Given the description of an element on the screen output the (x, y) to click on. 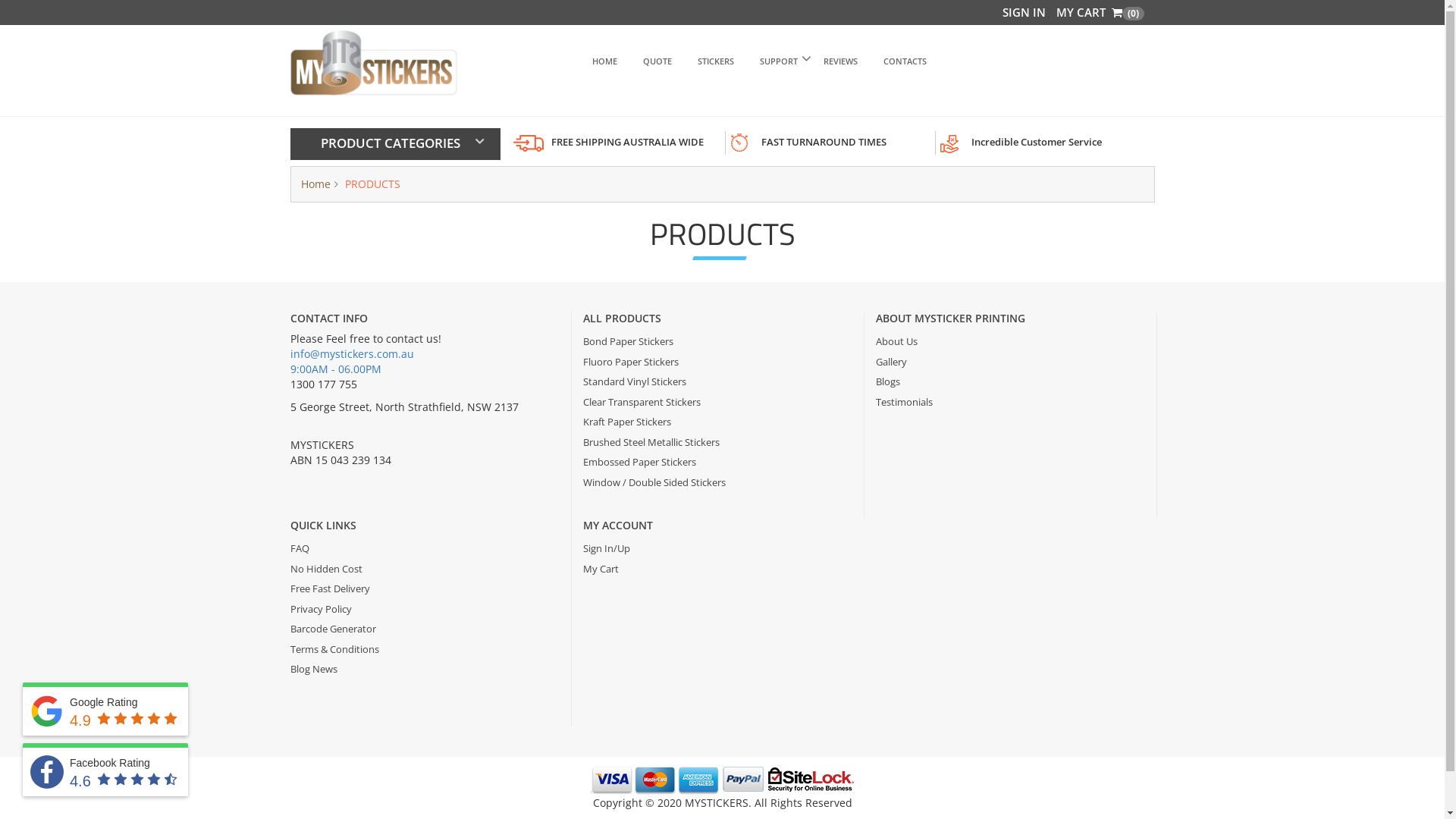
Clear Transparent Stickers Element type: text (717, 402)
My Cart   Element type: text (718, 568)
Testimonials Element type: text (1010, 402)
Home Element type: text (314, 183)
Free Fast Delivery Element type: text (423, 588)
info@mystickers.com.au
9:00AM - 06.00PM Element type: text (351, 361)
Blogs Element type: text (1010, 381)
SUPPORT Element type: text (778, 61)
Privacy Policy Element type: text (423, 609)
Blog News Element type: text (423, 668)
Sign In/Up Element type: text (718, 548)
Terms & Conditions Element type: text (423, 649)
Embossed Paper Stickers Element type: text (717, 461)
QUOTE Element type: text (657, 61)
STICKERS Element type: text (715, 61)
Kraft Paper Stickers Element type: text (717, 421)
Fluoro Paper Stickers Element type: text (717, 361)
REVIEWS Element type: text (840, 61)
CONTACTS Element type: text (904, 61)
Window / Double Sided Stickers Element type: text (717, 482)
SIGN IN Element type: text (1023, 11)
About Us Element type: text (1010, 341)
PRODUCT CATEGORIES Element type: text (390, 142)
Bond Paper Stickers Element type: text (717, 341)
Standard Vinyl Stickers Element type: text (717, 381)
Barcode Generator Element type: text (423, 628)
MY CART   (0) Element type: text (1100, 11)
HOME Element type: text (604, 61)
Gallery Element type: text (1010, 361)
Brushed Steel Metallic Stickers Element type: text (717, 442)
FAQ Element type: text (423, 548)
No Hidden Cost Element type: text (423, 568)
